Given the description of an element on the screen output the (x, y) to click on. 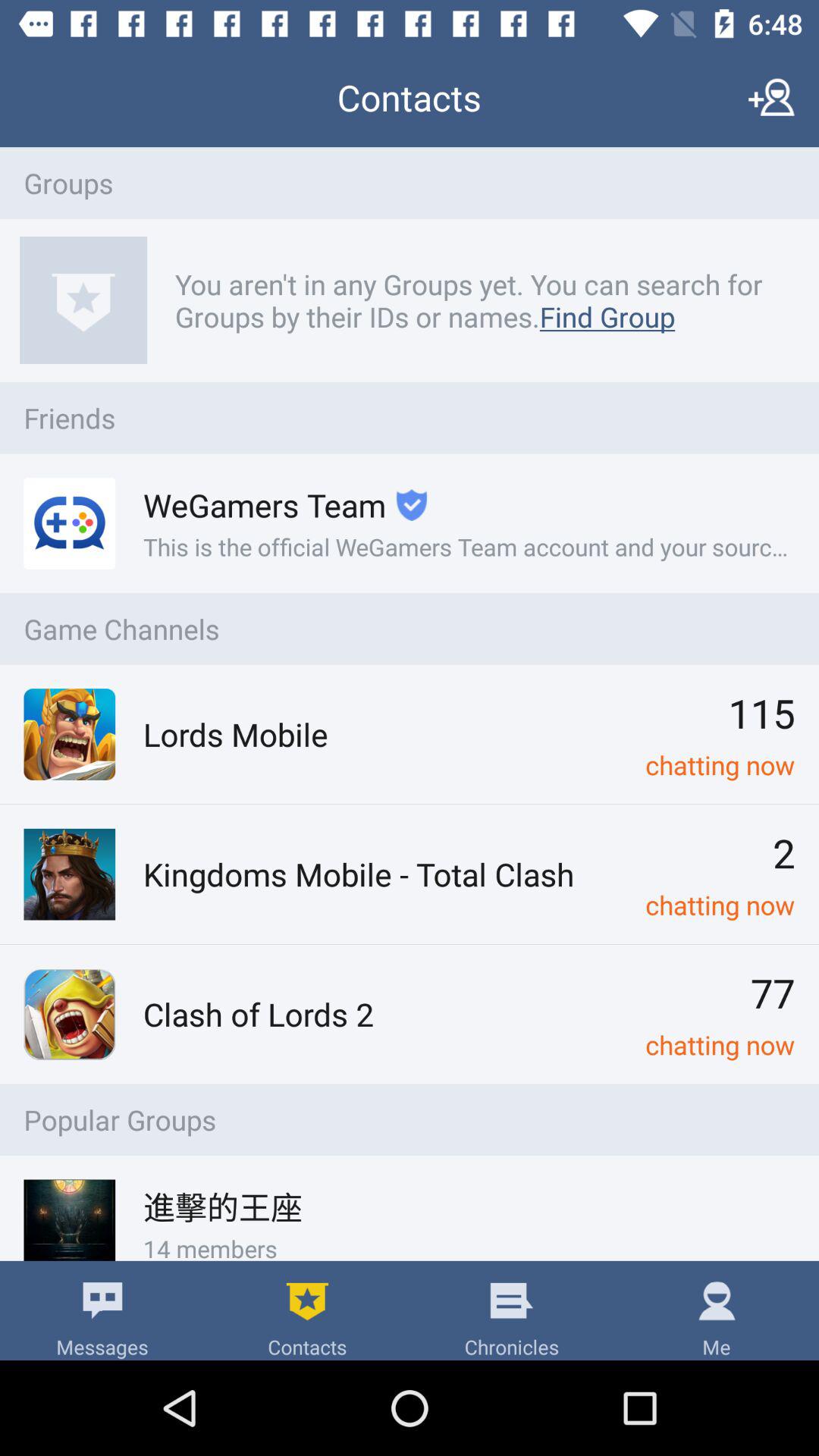
press app above friends icon (477, 300)
